Given the description of an element on the screen output the (x, y) to click on. 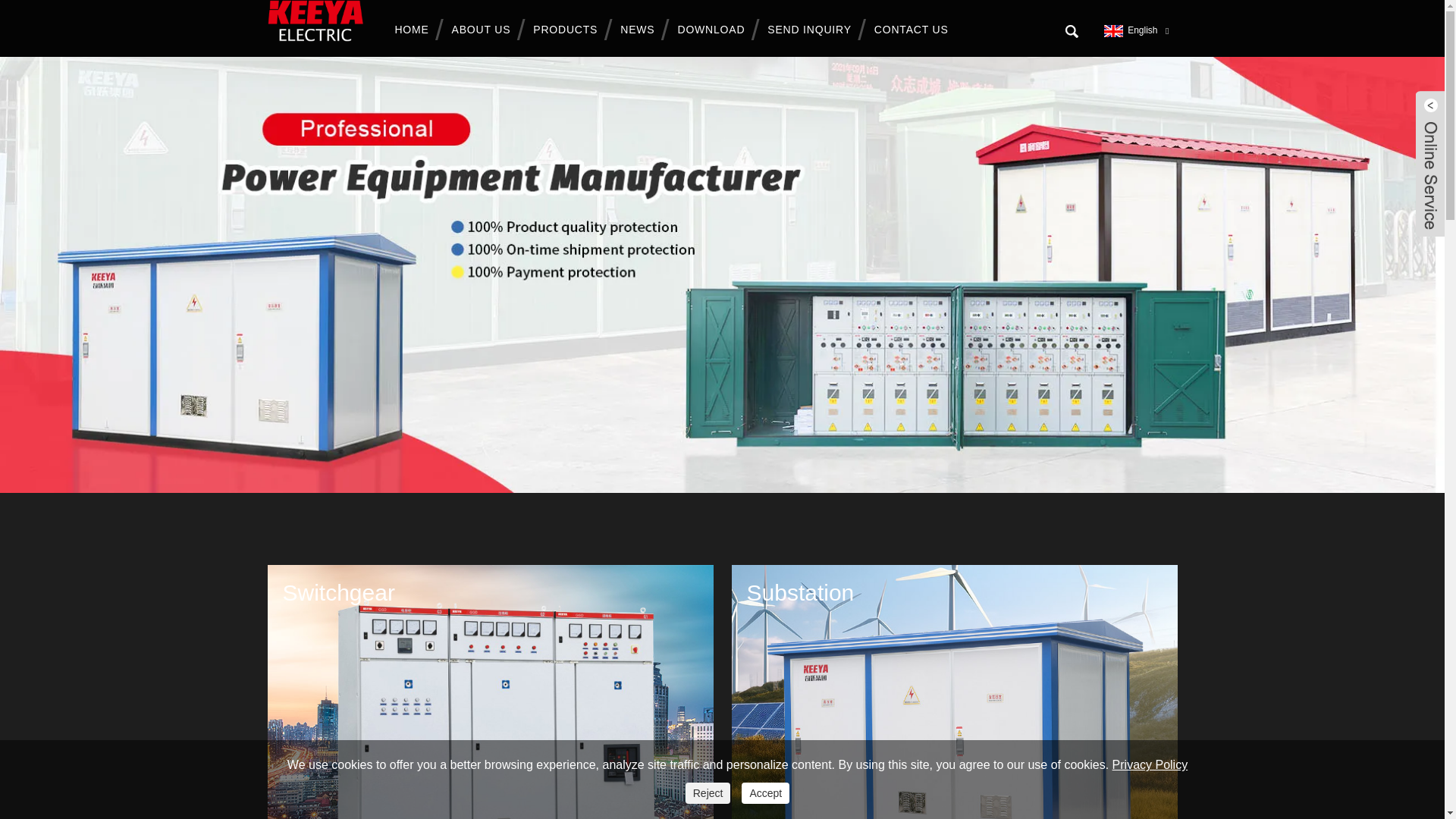
PRODUCTS (568, 30)
DOWNLOAD (714, 30)
ABOUT US (484, 30)
Products (568, 30)
Home (415, 30)
SEND INQUIRY (813, 30)
HOME (415, 30)
English (1128, 30)
CONTACT US (914, 30)
About Us (484, 30)
